Given the description of an element on the screen output the (x, y) to click on. 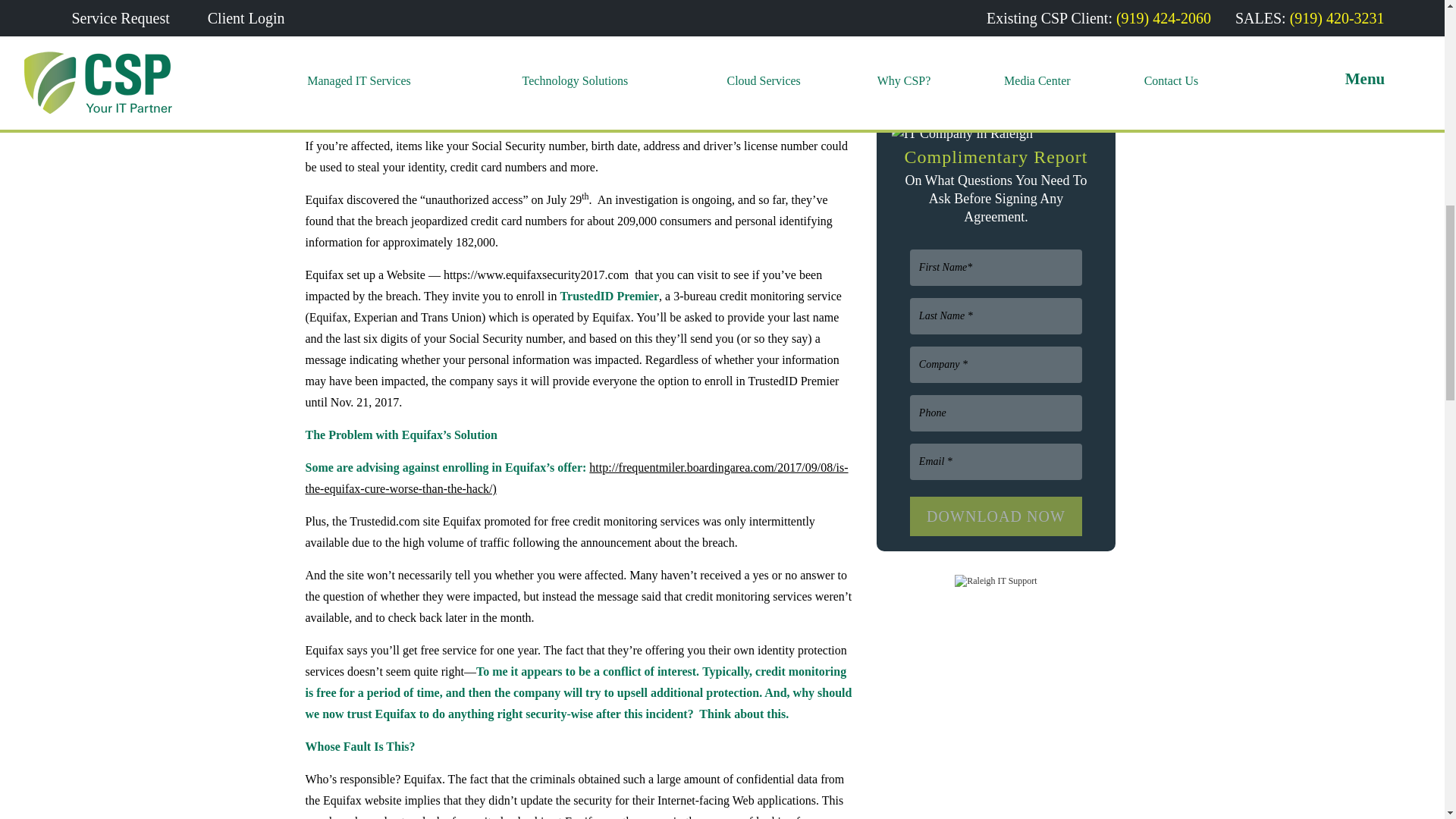
Download Now (995, 516)
